Given the description of an element on the screen output the (x, y) to click on. 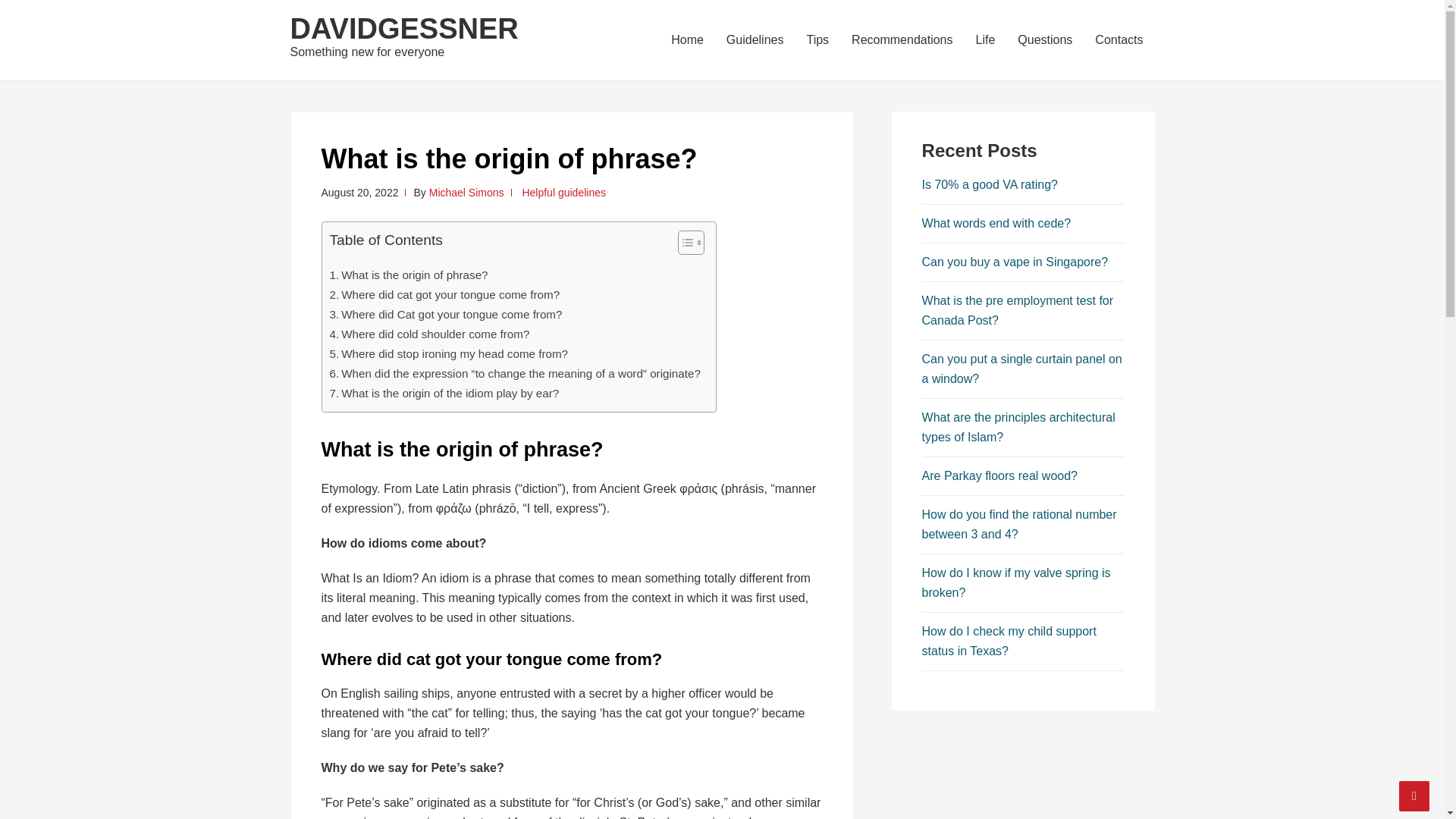
What is the pre employment test for Canada Post? (1017, 310)
Can you put a single curtain panel on a window? (1021, 368)
Michael Simons (466, 192)
DAVIDGESSNER (403, 29)
Where did cat got your tongue come from? (444, 294)
Home (686, 39)
What words end with cede? (996, 223)
Where did cold shoulder come from? (429, 334)
What are the principles architectural types of Islam? (1018, 427)
Recommendations (901, 39)
Where did stop ironing my head come from? (448, 353)
How do I know if my valve spring is broken? (1015, 582)
What is the origin of the idiom play by ear? (444, 393)
Helpful guidelines (563, 192)
Can you buy a vape in Singapore? (1014, 261)
